Given the description of an element on the screen output the (x, y) to click on. 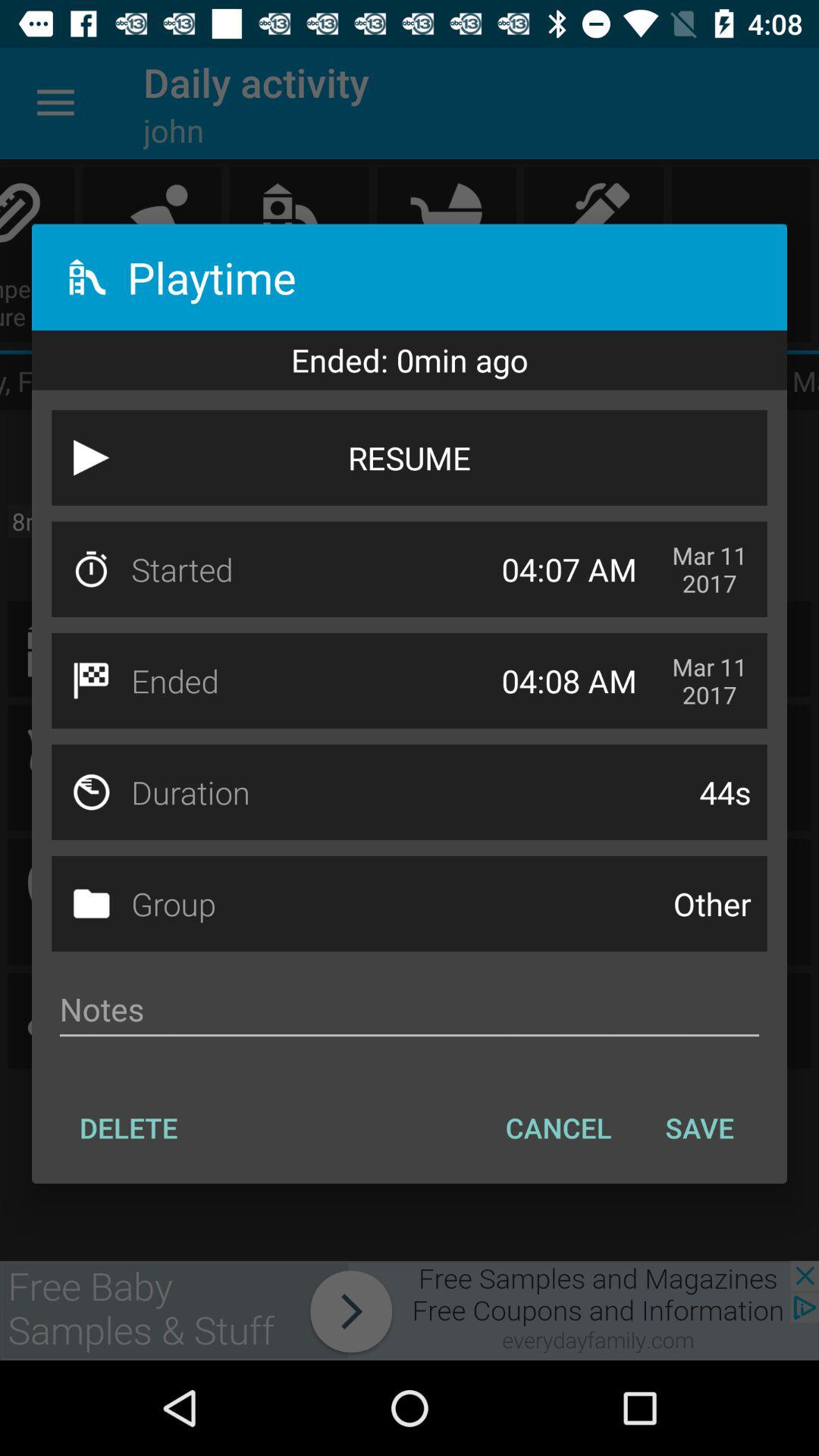
flip to the delete item (128, 1127)
